Given the description of an element on the screen output the (x, y) to click on. 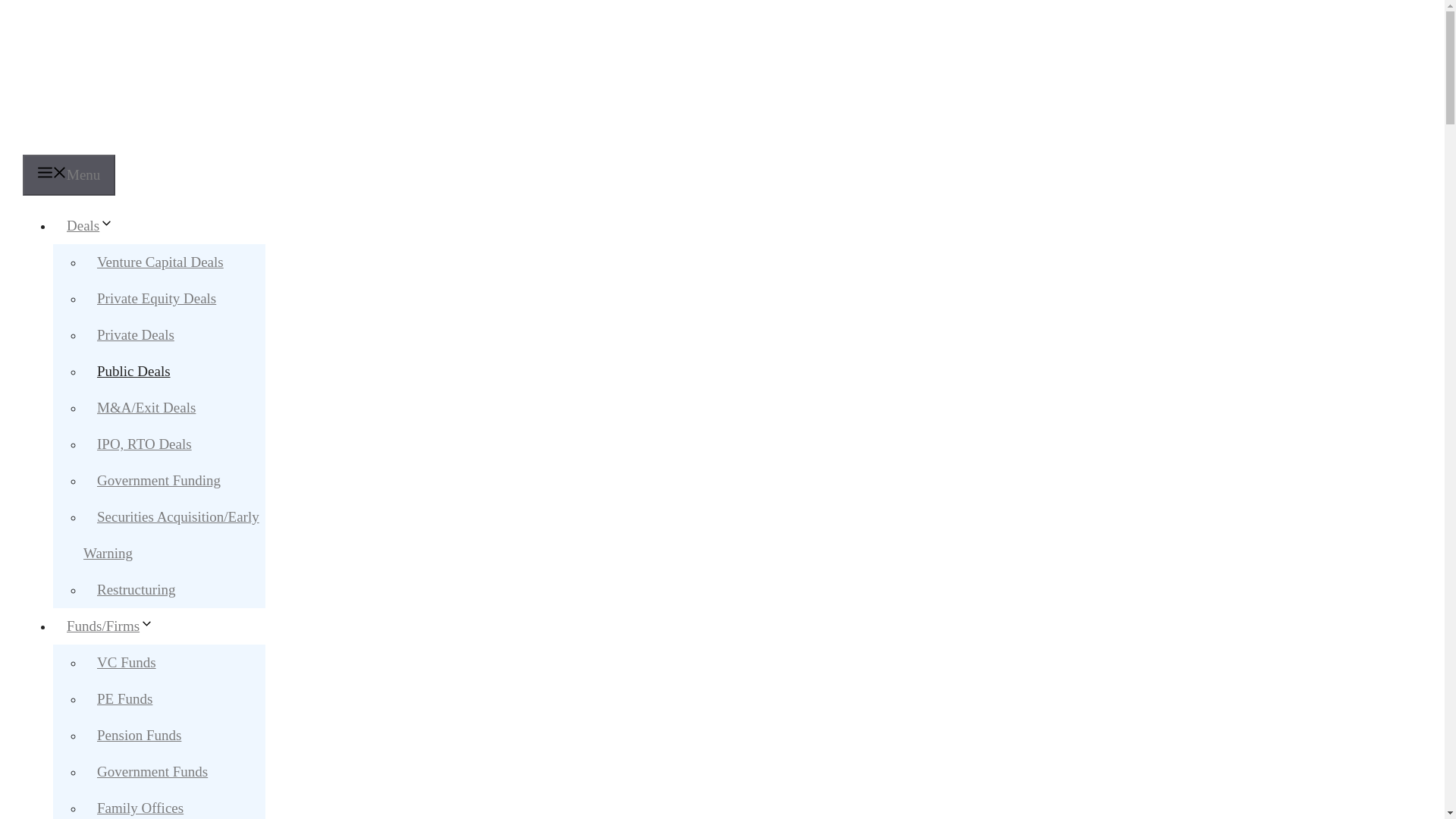
Family Offices (139, 805)
Pension Funds (138, 735)
Restructuring (135, 589)
VC Funds (126, 662)
Menu (69, 174)
IPO, RTO Deals (143, 443)
Government Funds (151, 771)
PE Funds (123, 698)
Venture Capital Deals (159, 261)
Government Funding (158, 480)
